Given the description of an element on the screen output the (x, y) to click on. 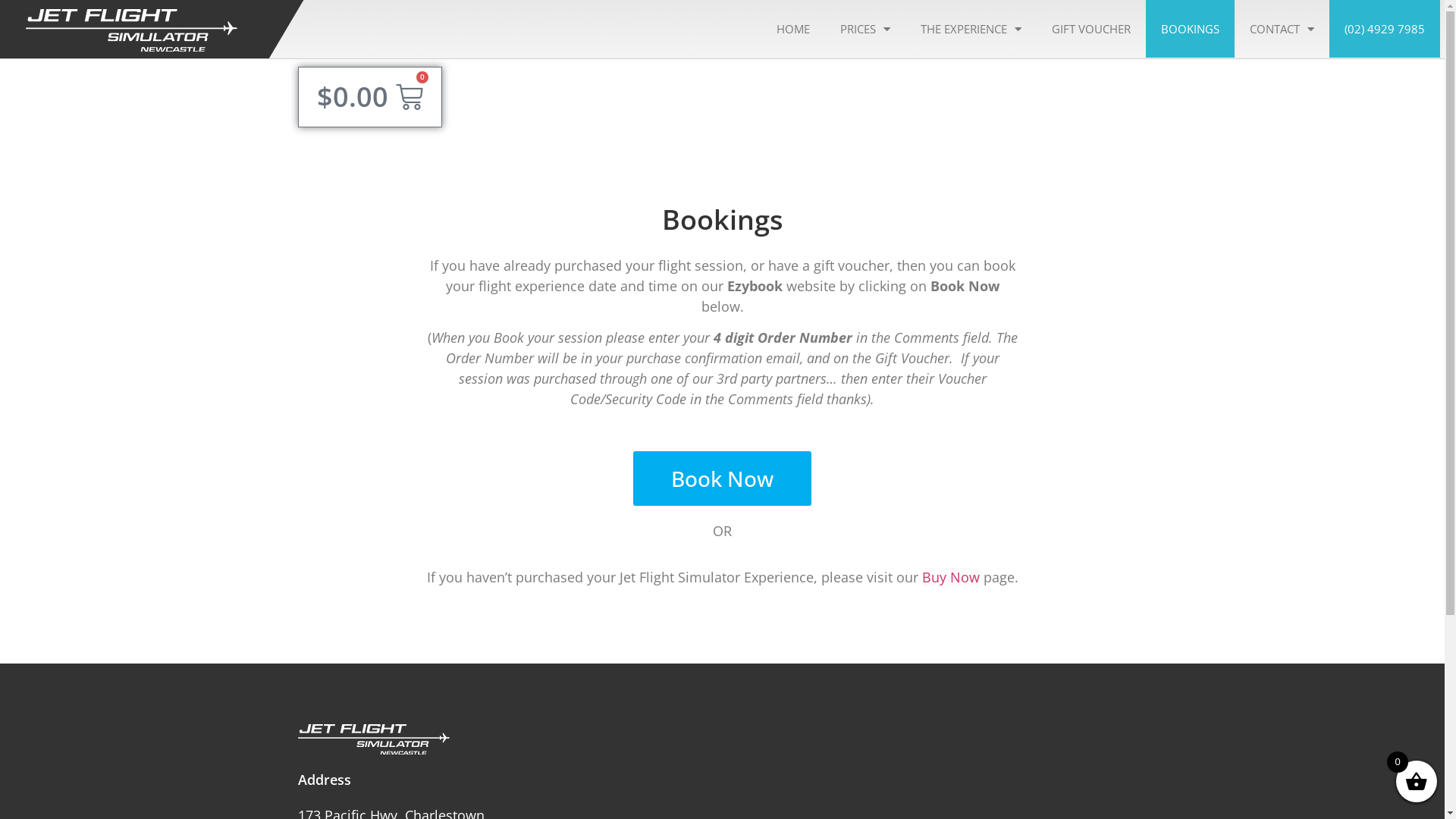
$0.00
0 Element type: text (369, 96)
(02) 4929 7985 Element type: text (1384, 28)
GIFT VOUCHER Element type: text (1090, 28)
Book Now Element type: text (722, 478)
PRICES Element type: text (865, 28)
CONTACT Element type: text (1281, 28)
THE EXPERIENCE Element type: text (970, 28)
Buy Now Element type: text (950, 576)
BOOKINGS Element type: text (1189, 28)
HOME Element type: text (793, 28)
